Given the description of an element on the screen output the (x, y) to click on. 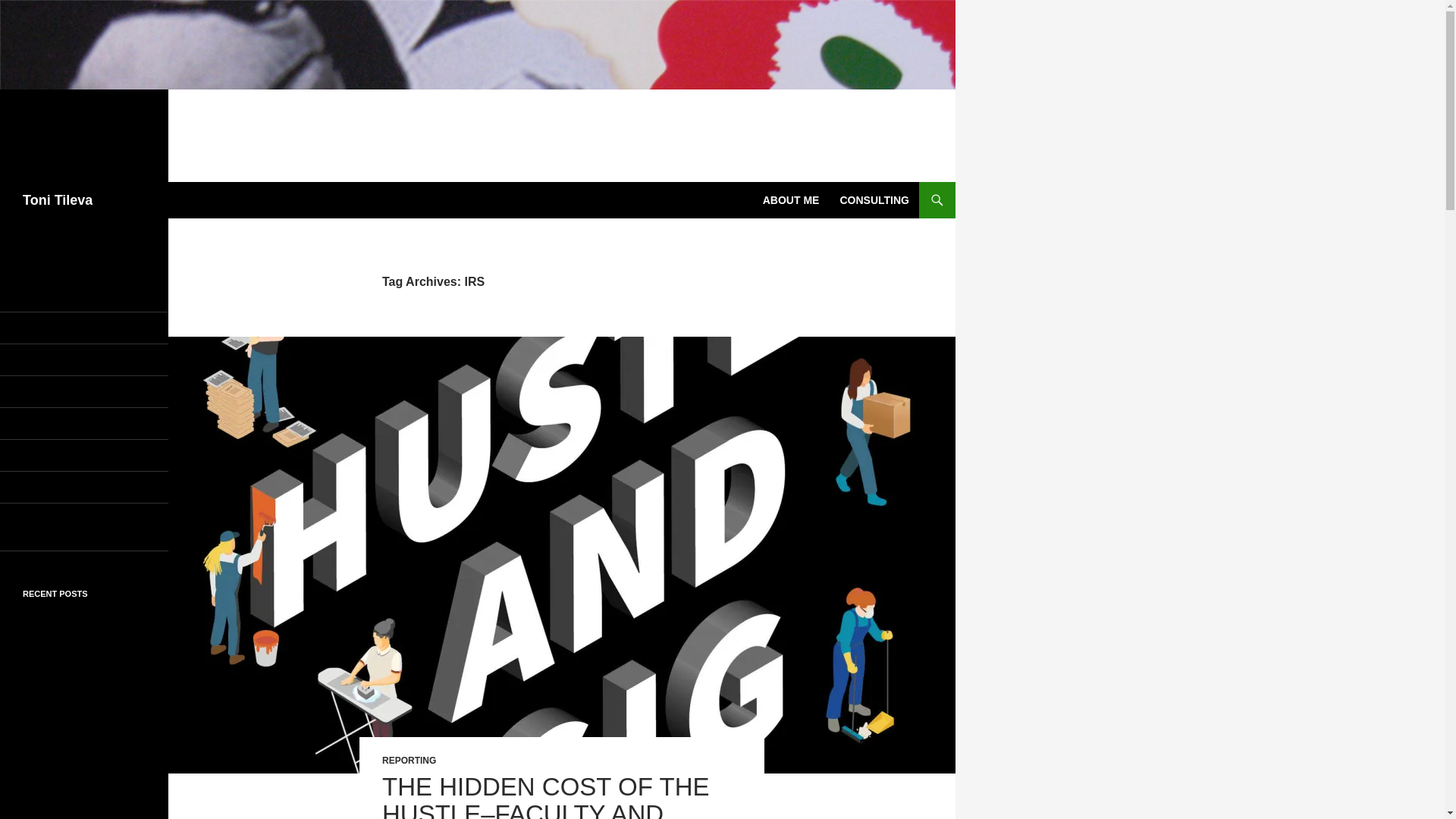
CONSULTING (873, 199)
Toni Tileva (58, 199)
ABOUT ME (791, 199)
REPORTING (408, 760)
